Given the description of an element on the screen output the (x, y) to click on. 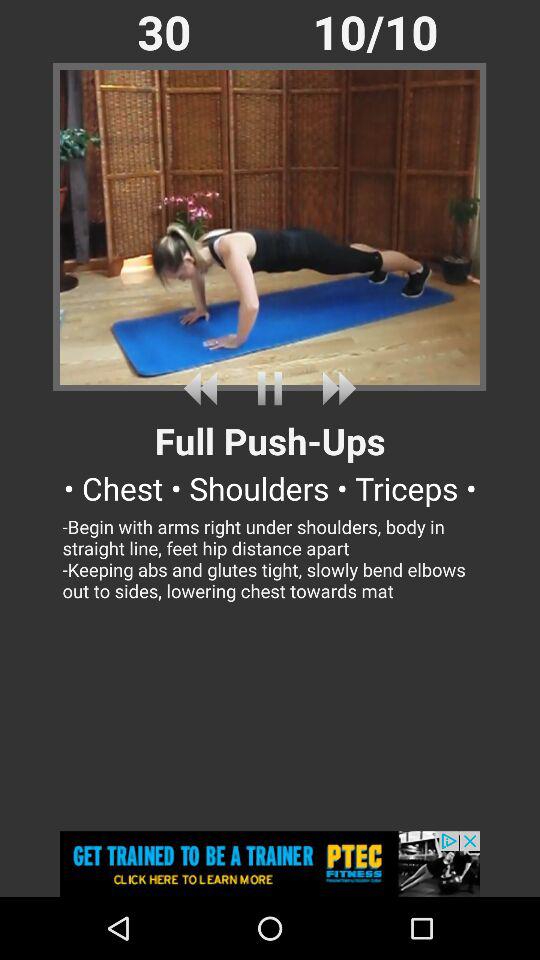
fast forward button (335, 388)
